Given the description of an element on the screen output the (x, y) to click on. 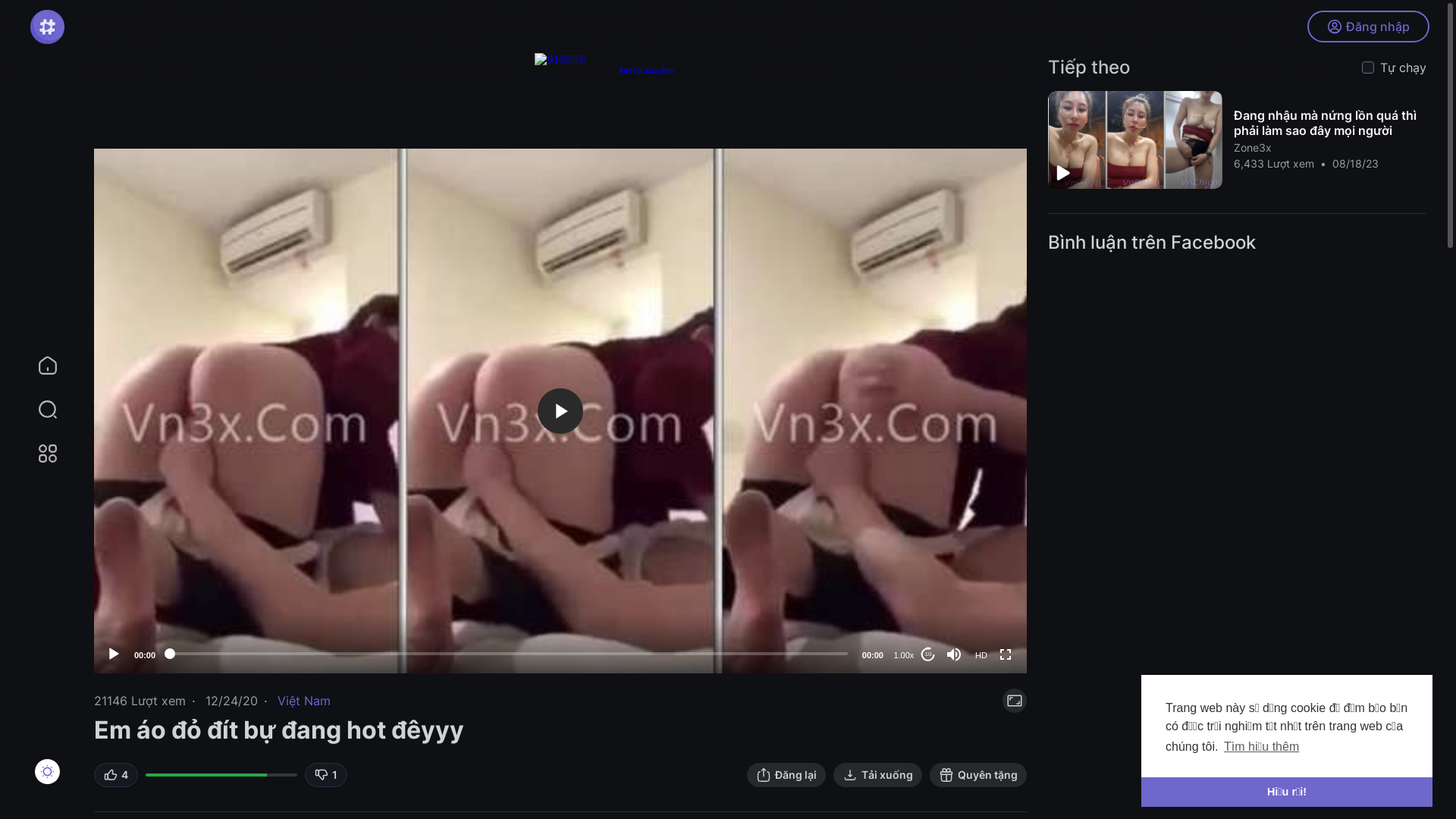
Zone3x Element type: text (1251, 147)
Fullscreen Element type: hover (1005, 654)
4 Element type: text (116, 774)
Play Element type: hover (113, 654)
1 Element type: text (325, 774)
Mute Element type: hover (953, 654)
1.00x Element type: text (903, 654)
HD Element type: text (980, 654)
10 Element type: text (927, 654)
